Given the description of an element on the screen output the (x, y) to click on. 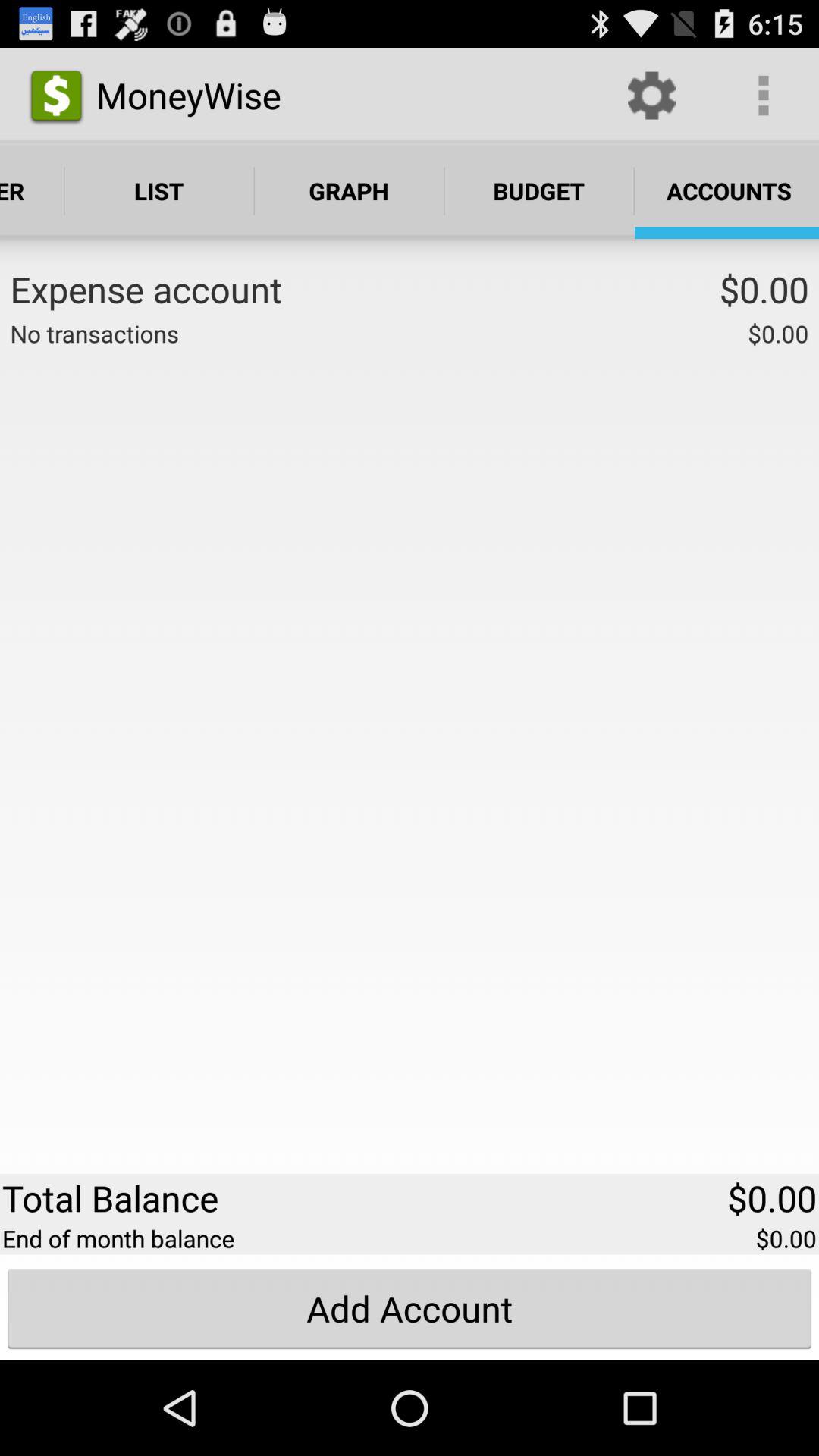
press icon above accounts (651, 95)
